Given the description of an element on the screen output the (x, y) to click on. 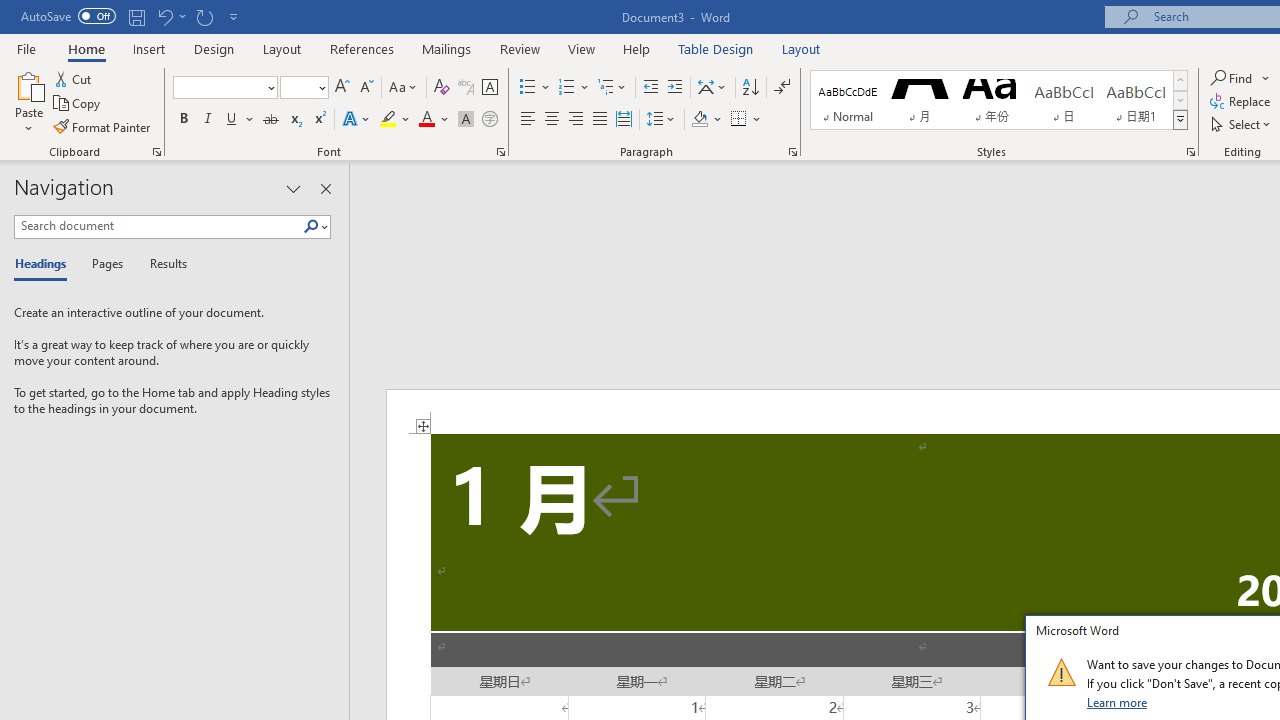
Text Effects and Typography (357, 119)
Font Color (434, 119)
Search document (157, 226)
Styles (1179, 120)
Bold (183, 119)
Strikethrough (270, 119)
Character Border (489, 87)
